Given the description of an element on the screen output the (x, y) to click on. 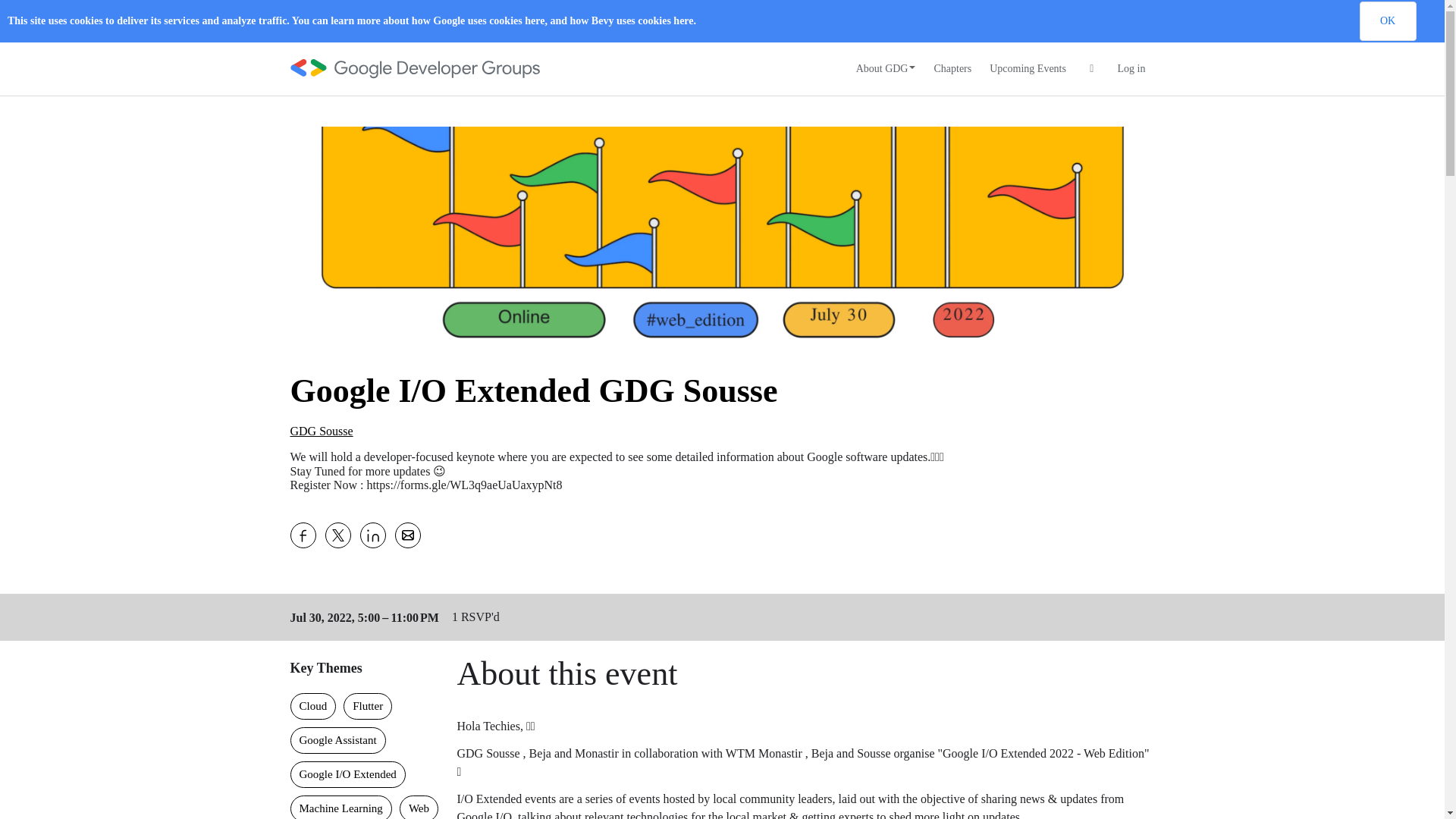
Flutter (367, 705)
OK (1386, 20)
About GDG (885, 68)
Web (418, 807)
GDG Sousse (320, 431)
here (534, 20)
Google Assistant (337, 740)
Chapters (951, 68)
Machine Learning (340, 807)
here (682, 20)
Upcoming Events (1027, 68)
Cloud (312, 705)
